Given the description of an element on the screen output the (x, y) to click on. 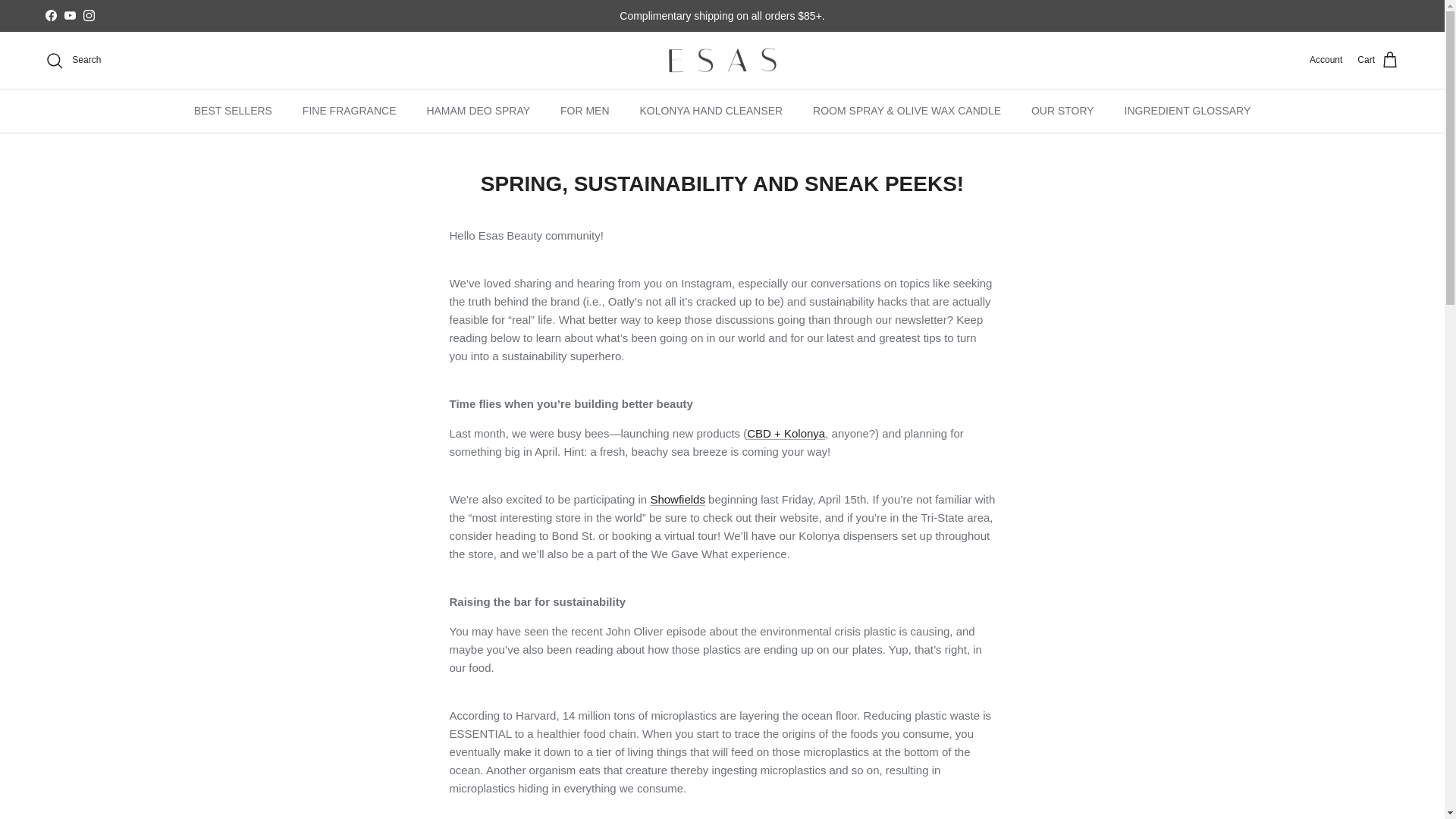
HAMAM DEO SPRAY (477, 110)
Esas Beauty on Facebook (50, 15)
INGREDIENT GLOSSARY (1187, 110)
YouTube (69, 15)
Facebook (50, 15)
FOR MEN (585, 110)
Instagram (88, 15)
Esas Beauty on Instagram (88, 15)
Search (72, 60)
KOLONYA HAND CLEANSER (711, 110)
